Given the description of an element on the screen output the (x, y) to click on. 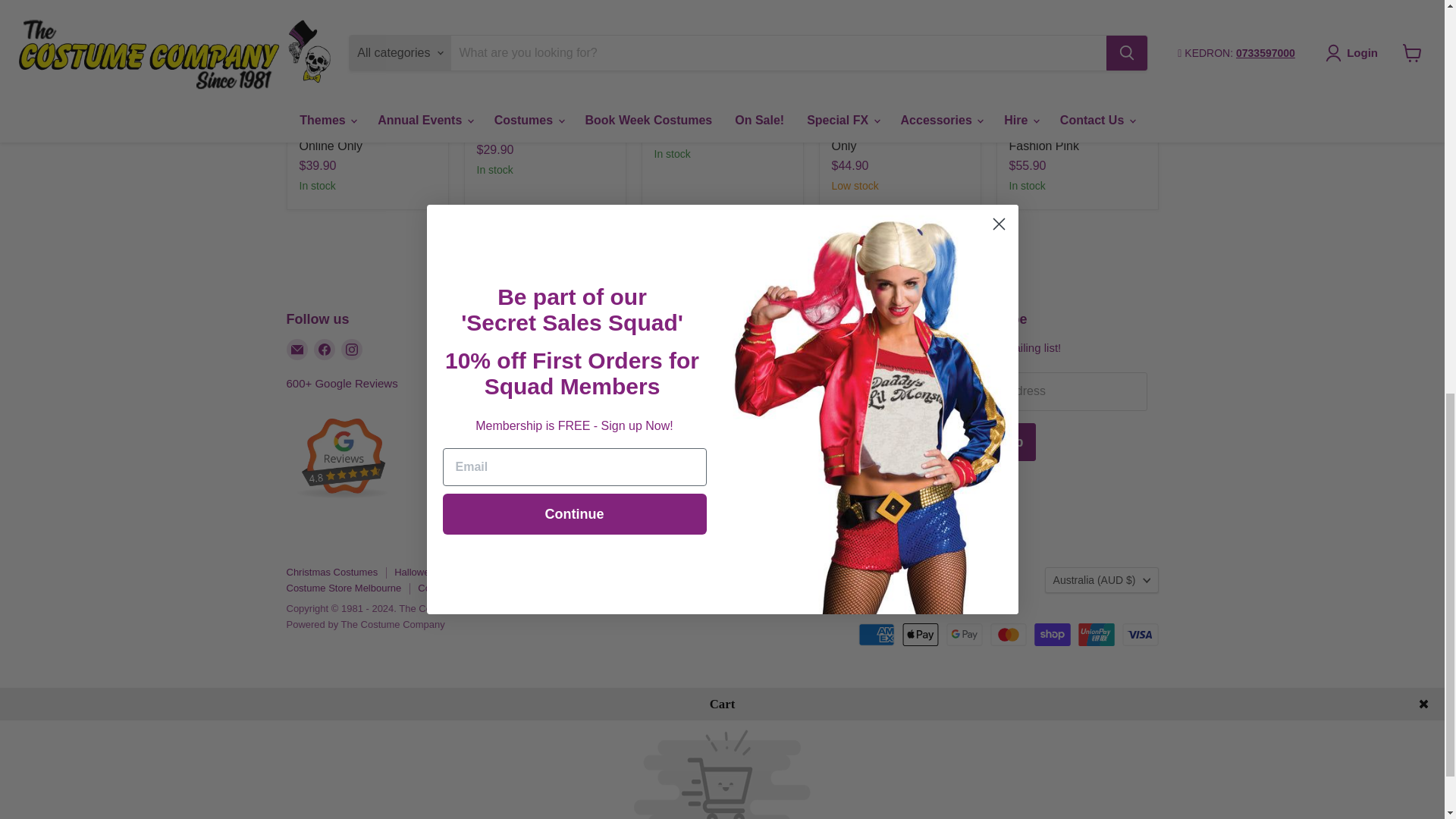
Instagram (351, 349)
Email (296, 349)
Facebook (324, 349)
